Given the description of an element on the screen output the (x, y) to click on. 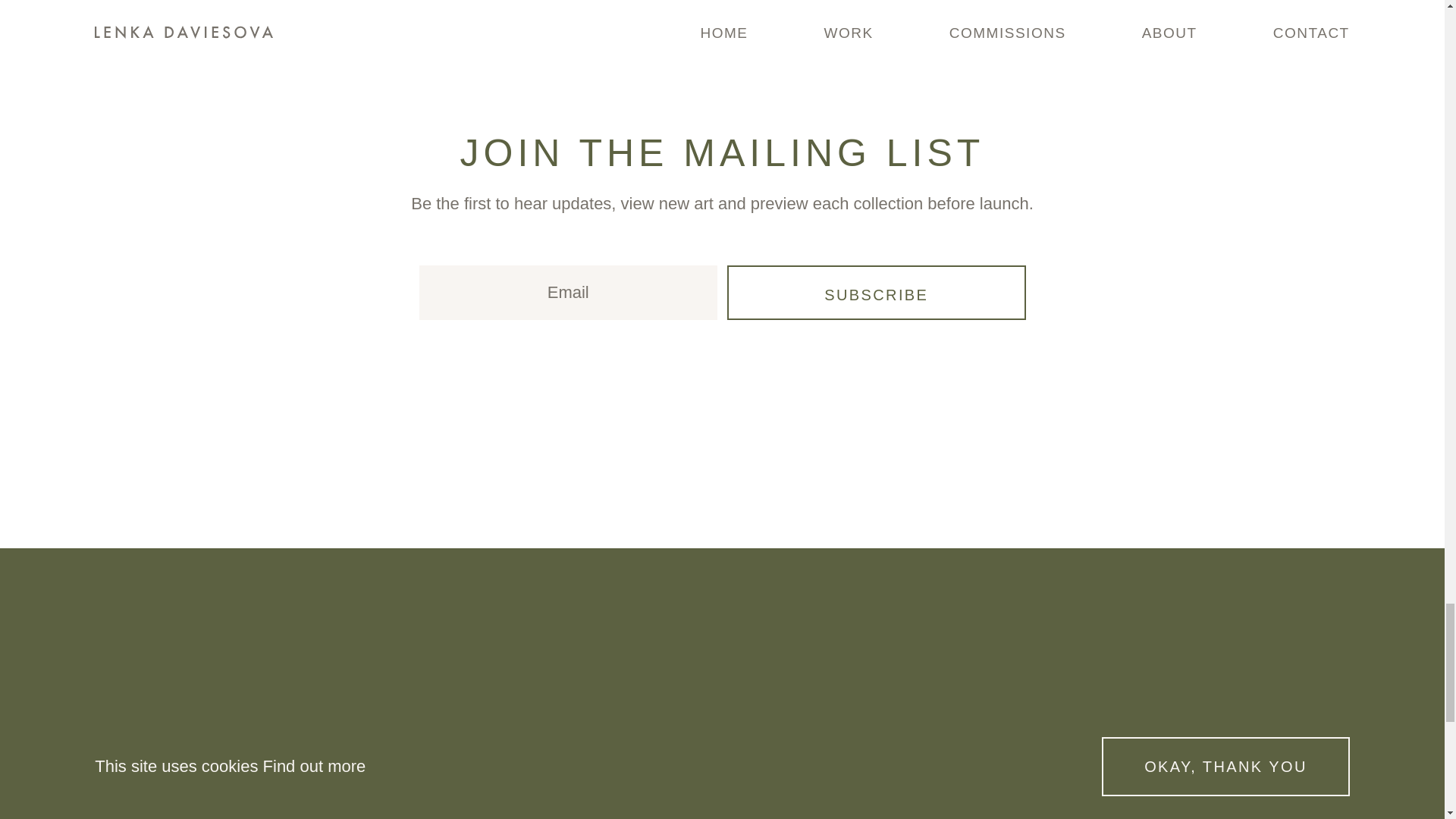
SUBSCRIBE (876, 292)
